Given the description of an element on the screen output the (x, y) to click on. 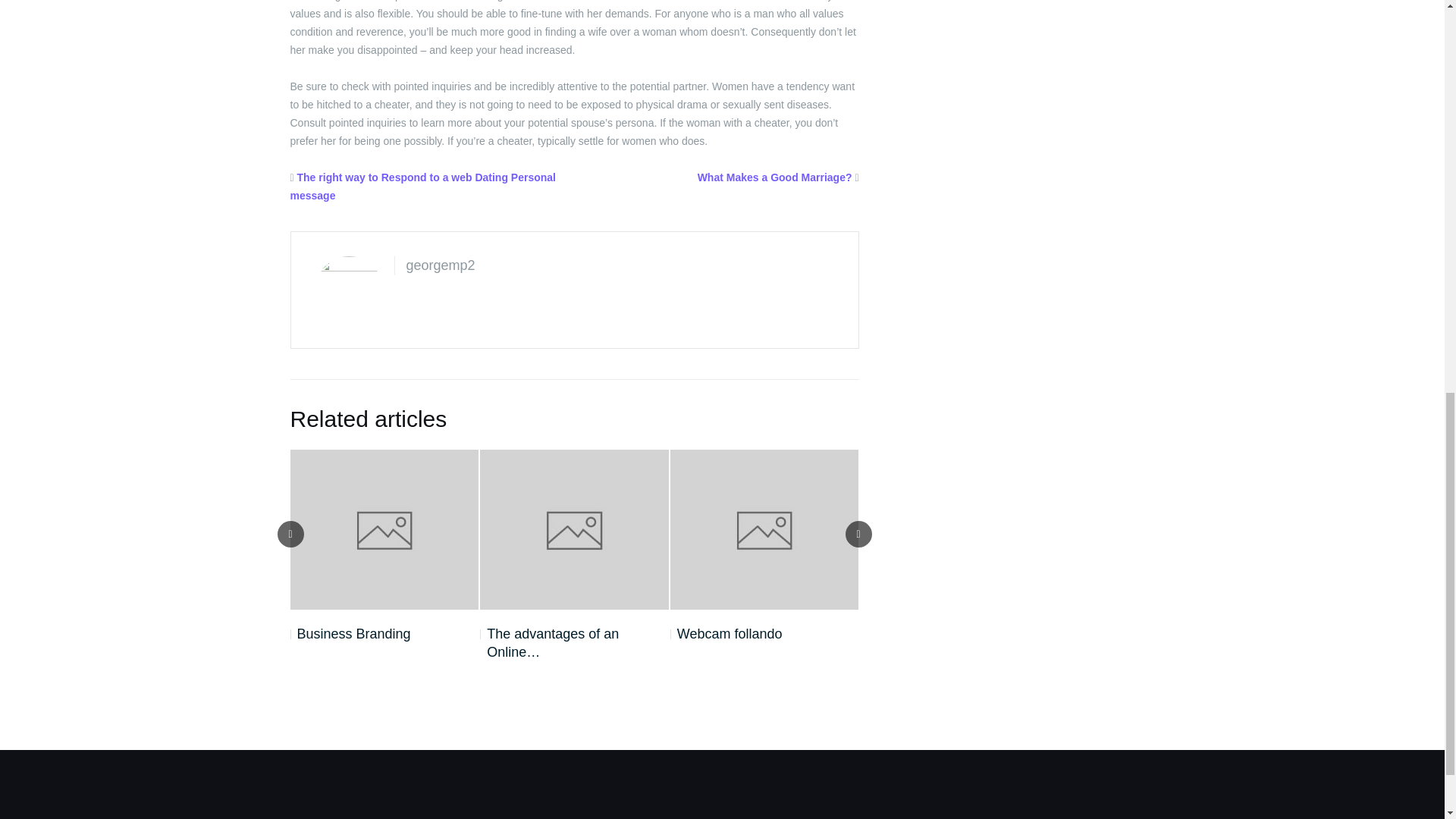
Webcam follando (726, 633)
Business Branding (349, 633)
What Makes a Good Marriage? (774, 177)
The right way to Respond to a web Dating Personal message (422, 186)
